Given the description of an element on the screen output the (x, y) to click on. 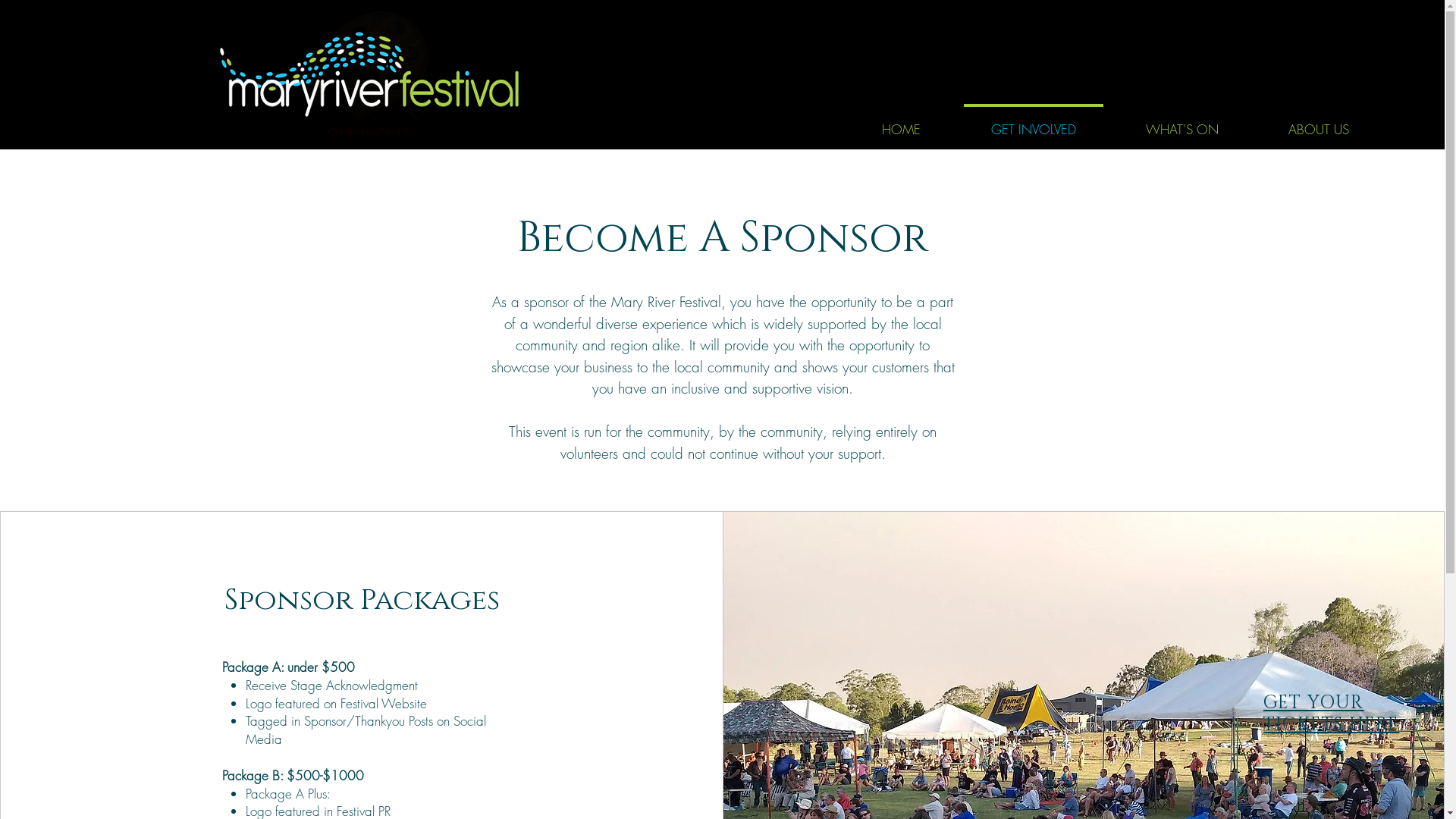
GET YOUR TICKETS HERE Element type: text (1331, 713)
ABOUT US Element type: text (1317, 122)
logo for website .png Element type: hover (368, 74)
WHAT'S ON Element type: text (1181, 122)
GET INVOLVED Element type: text (1032, 122)
HOME Element type: text (900, 122)
